Given the description of an element on the screen output the (x, y) to click on. 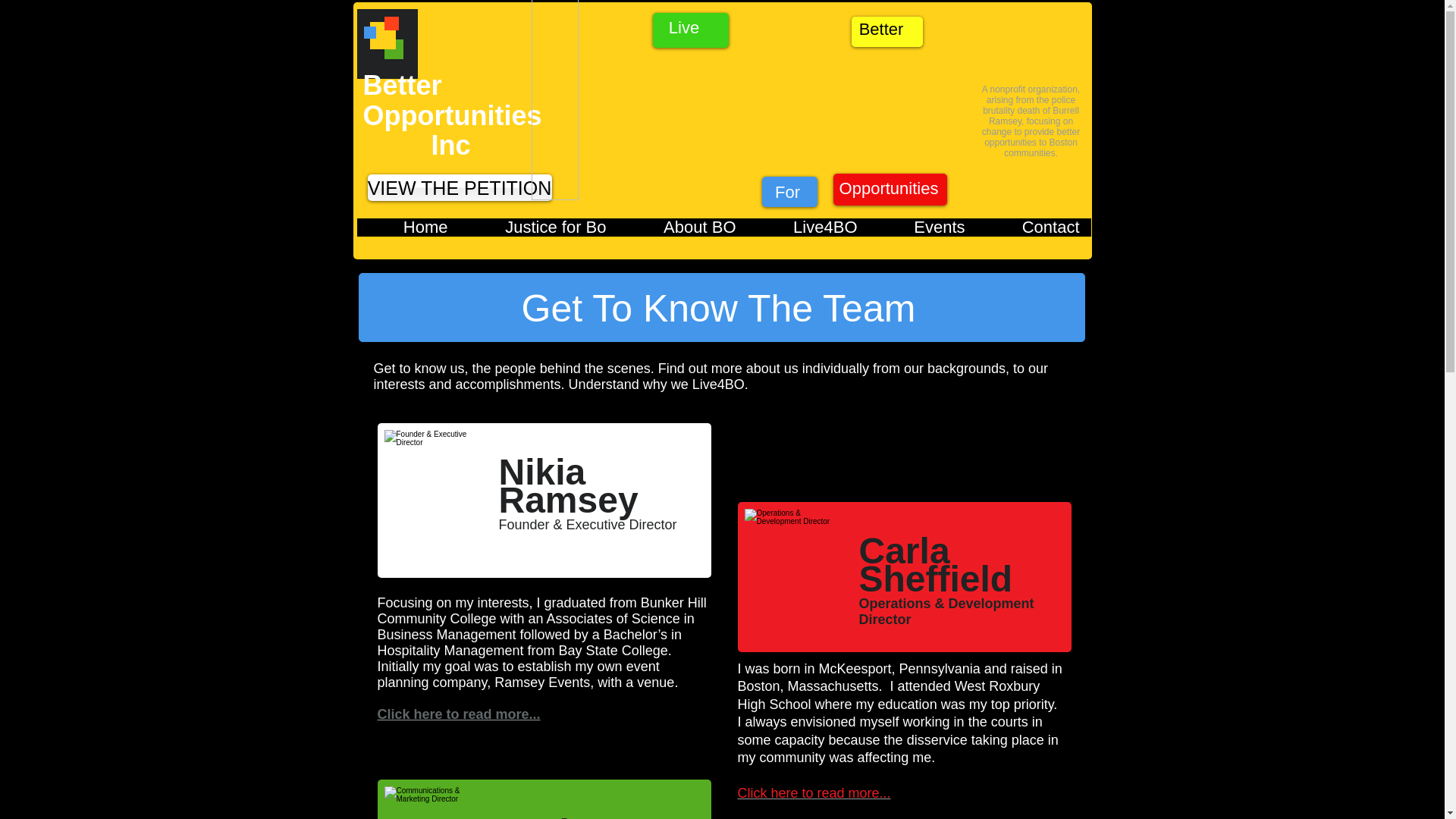
Home (407, 232)
Justice for Bo (538, 232)
Click here to read more... (458, 713)
Opportunities (887, 188)
Contact (1033, 232)
Anthony Thomas (430, 799)
Better (881, 29)
Better Opportunities          Inc (451, 114)
Live4BO (808, 232)
Click here to read more... (812, 792)
